Given the description of an element on the screen output the (x, y) to click on. 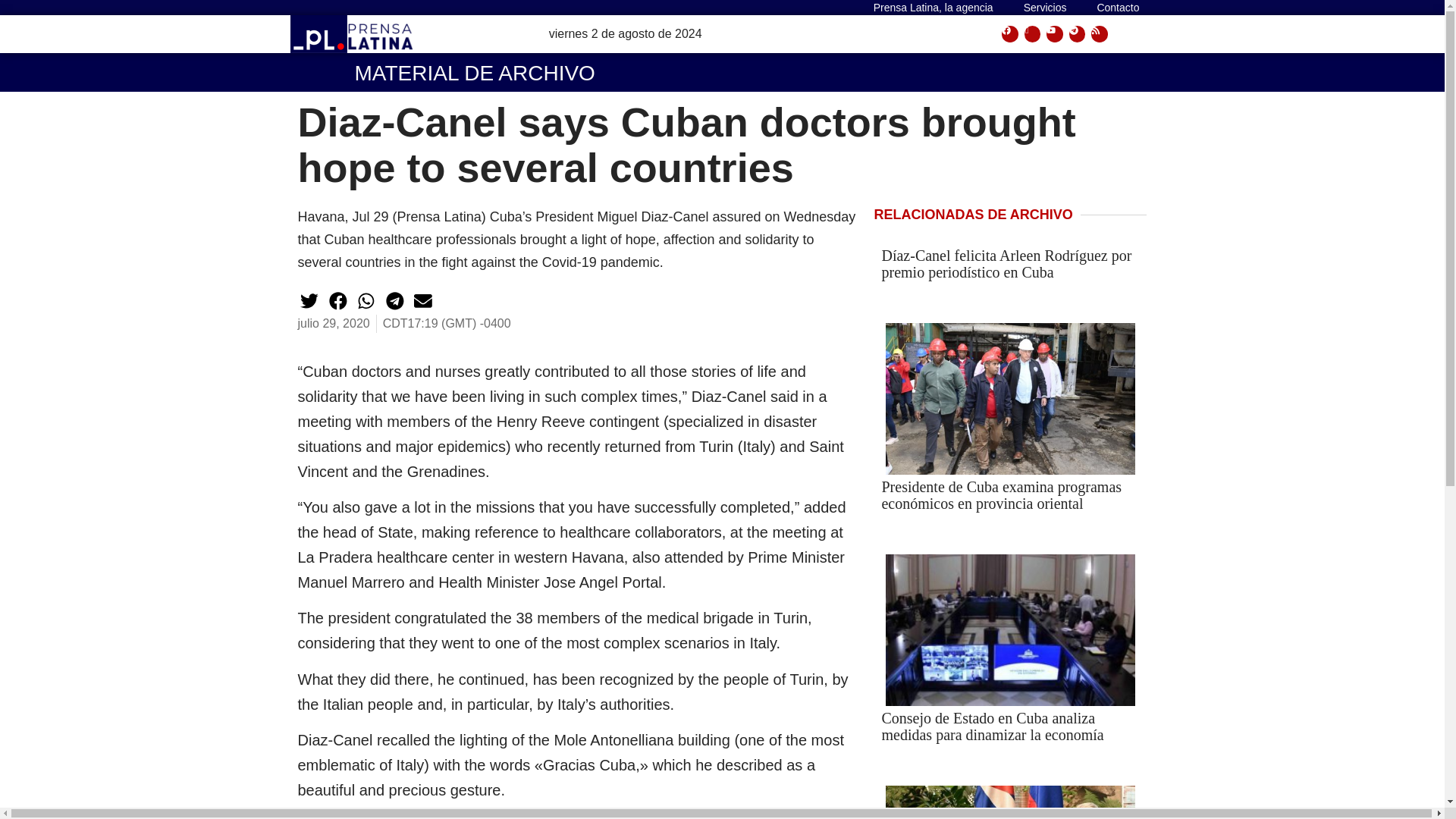
Prensa Latina, la agencia (934, 7)
Servicios (1045, 7)
Contacto (1117, 7)
